Given the description of an element on the screen output the (x, y) to click on. 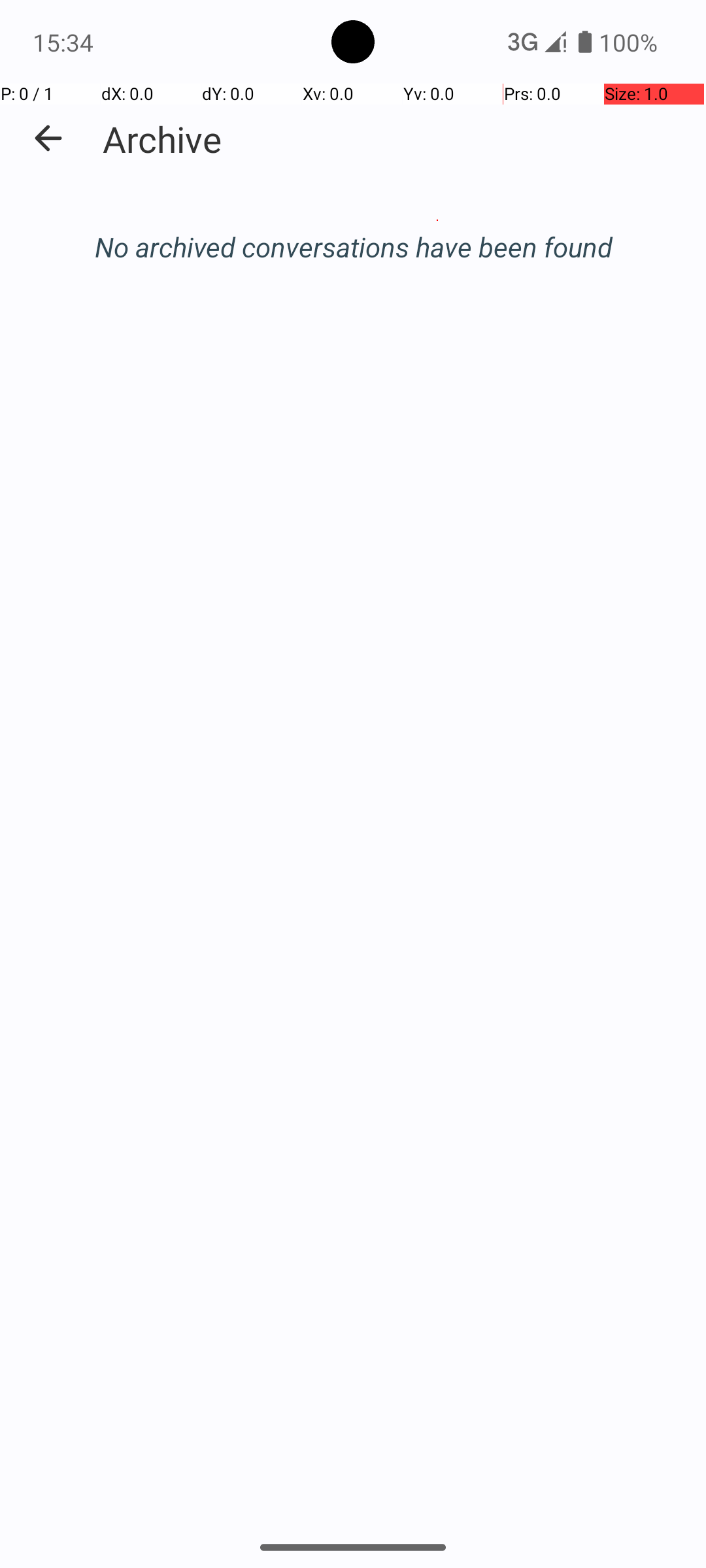
Archive Element type: android.widget.TextView (162, 138)
No archived conversations have been found Element type: android.widget.TextView (353, 246)
